Given the description of an element on the screen output the (x, y) to click on. 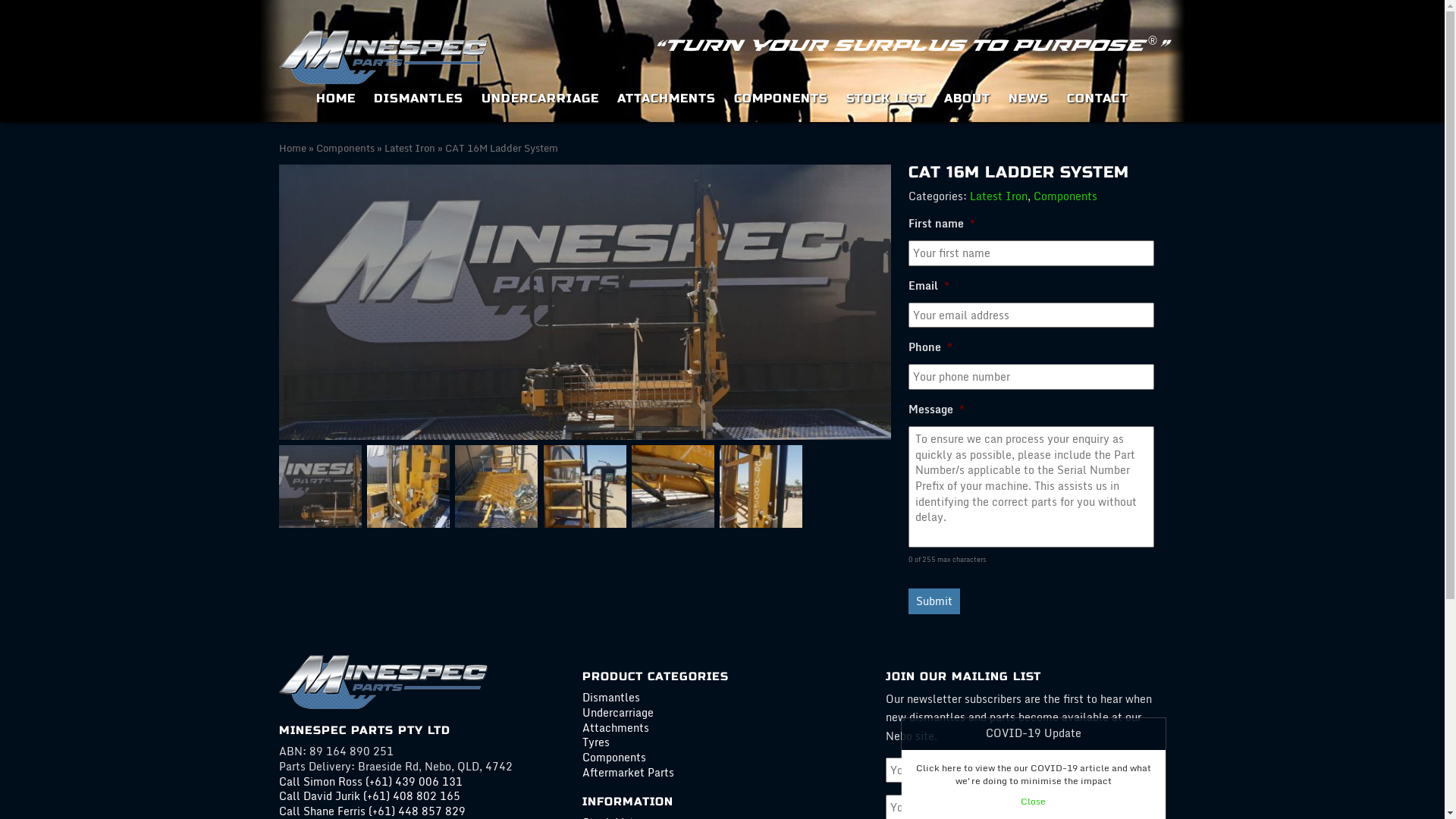
CAT 16M Ladder System (4) Element type: hover (408, 486)
STOCK LIST Element type: text (885, 98)
CAT 16M Ladder System (6) Element type: hover (584, 486)
Components Element type: text (614, 756)
Aftermarket Parts Element type: text (628, 772)
ATTACHMENTS Element type: text (666, 98)
Components Element type: text (1065, 195)
Attachments Element type: text (615, 727)
CAT 16M Ladder System (7) Element type: hover (672, 486)
DISMANTLES Element type: text (418, 98)
Call David Jurik (+61) 408 802 165 Element type: text (369, 795)
Close Element type: text (1032, 800)
CONTACT Element type: text (1097, 98)
NEWS Element type: text (1028, 98)
Home Element type: text (292, 147)
CAT 16M Ladder System (1) Element type: hover (320, 486)
Tyres Element type: text (595, 741)
CAT 16M Ladder System (1)-1 Element type: hover (585, 301)
Components Element type: text (344, 147)
CAT 16M Ladder System (5) Element type: hover (496, 486)
Latest Iron Element type: text (998, 195)
Call Simon Ross (+61) 439 006 131 Element type: text (370, 781)
Undercarriage Element type: text (617, 712)
ABOUT Element type: text (967, 98)
Dismantles Element type: text (611, 697)
UNDERCARRIAGE Element type: text (540, 98)
COMPONENTS Element type: text (781, 98)
CAT 16M Ladder System (9) Element type: hover (760, 486)
HOME Element type: text (335, 98)
Latest Iron Element type: text (408, 147)
Submit Element type: text (934, 601)
